Given the description of an element on the screen output the (x, y) to click on. 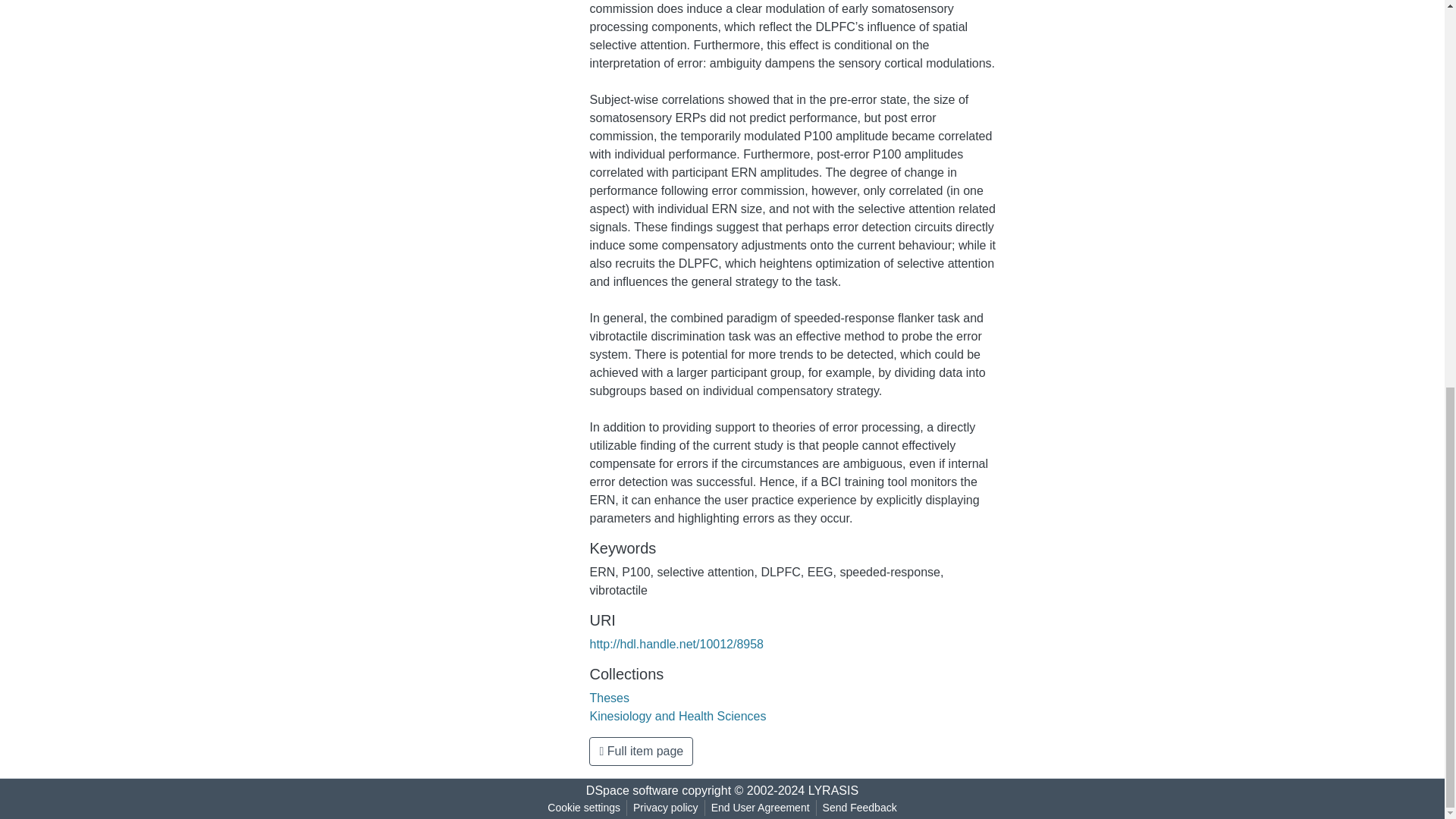
DSpace software (632, 789)
Send Feedback (859, 807)
Full item page (641, 751)
Privacy policy (665, 807)
Theses (608, 697)
Kinesiology and Health Sciences (677, 716)
End User Agreement (759, 807)
Cookie settings (583, 807)
LYRASIS (833, 789)
